Given the description of an element on the screen output the (x, y) to click on. 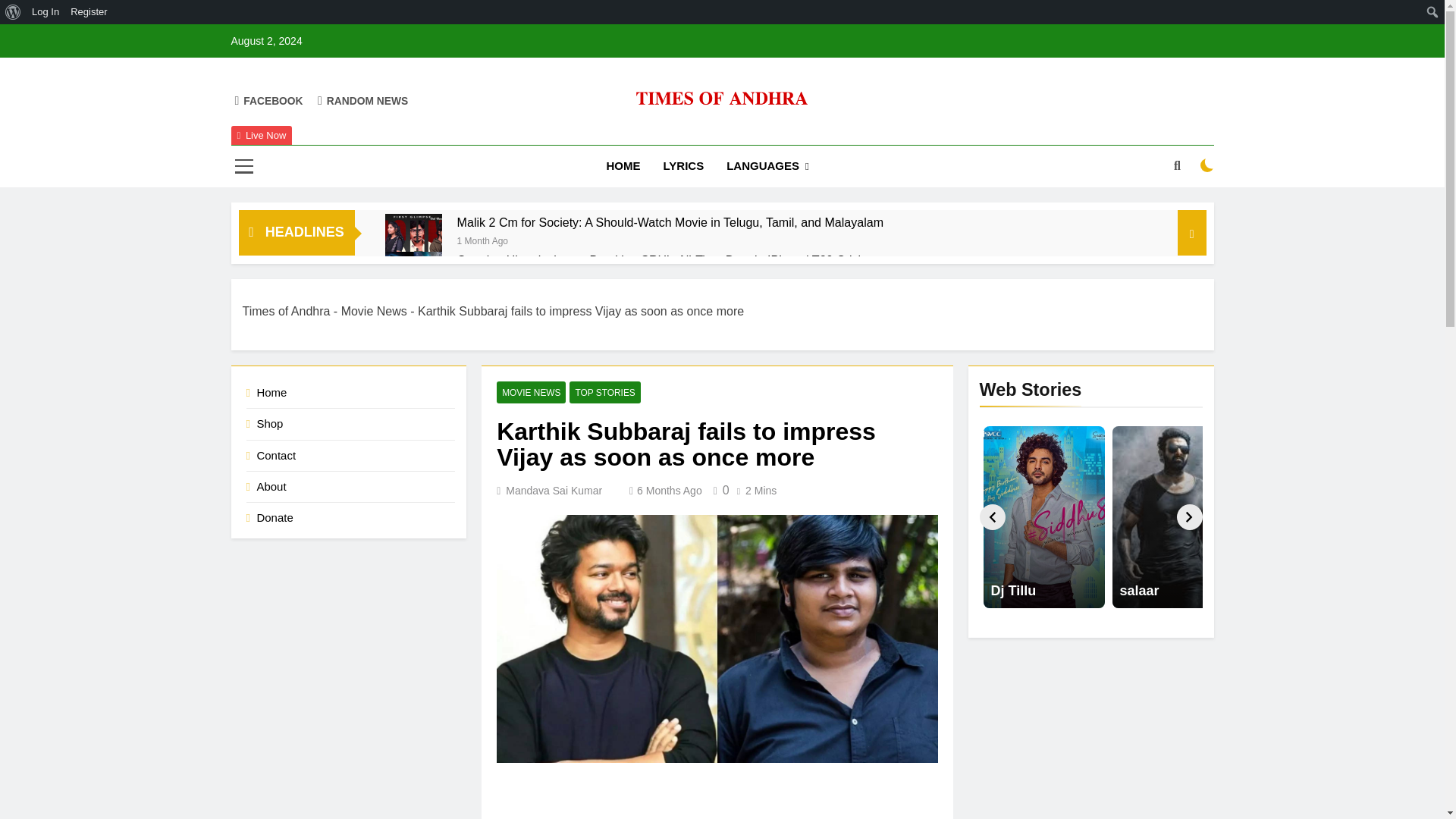
Register (89, 12)
LANGUAGES (767, 166)
FACEBOOK (268, 100)
Log In (45, 12)
HOME (623, 165)
1 Month Ago (482, 239)
on (1206, 164)
LYRICS (684, 165)
Live Now (261, 135)
RANDOM NEWS (362, 100)
Search (16, 12)
